Given the description of an element on the screen output the (x, y) to click on. 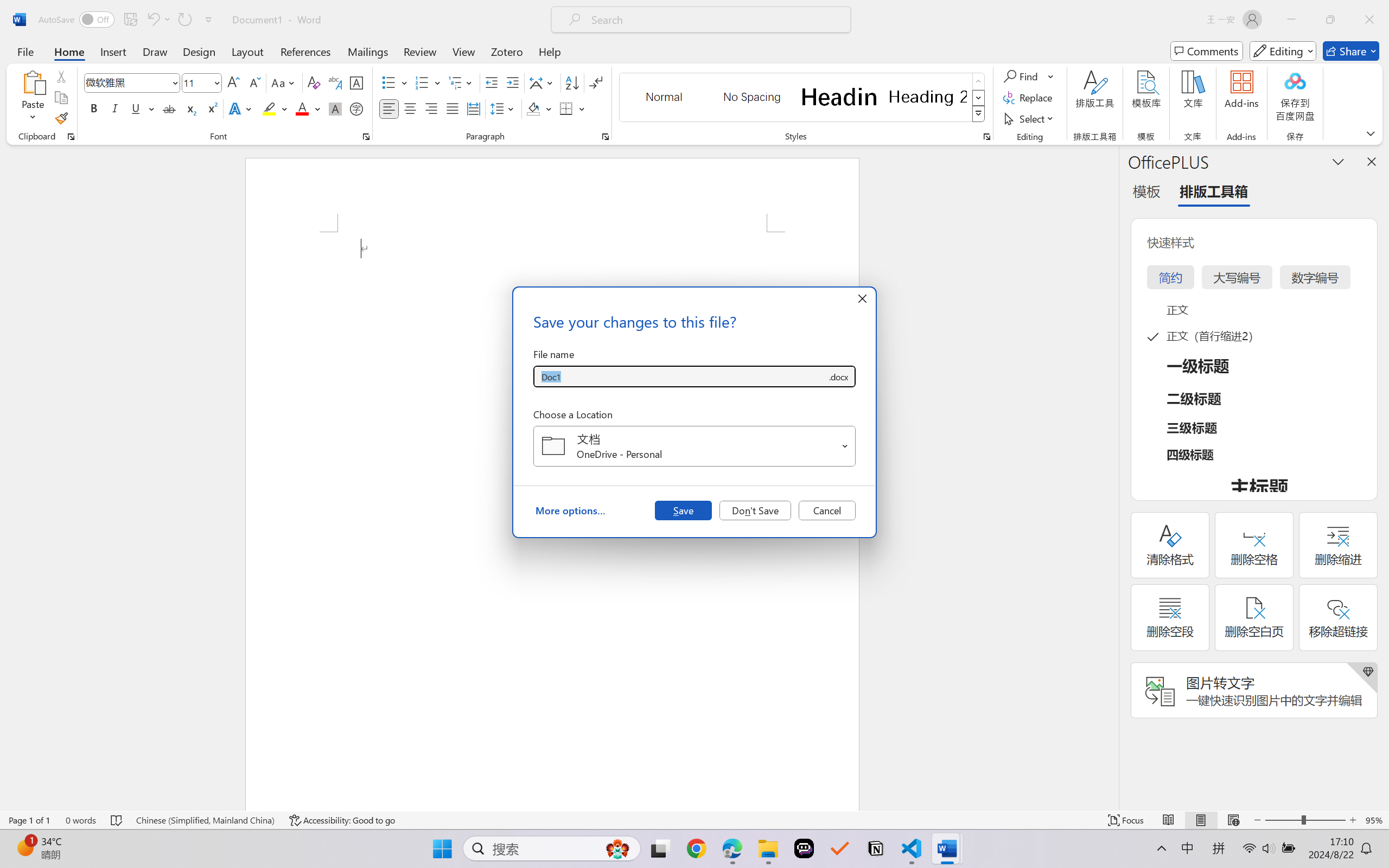
Class: MsoCommandBar (694, 819)
Undo <ApplyStyleToDoc>b__0 (158, 19)
